Given the description of an element on the screen output the (x, y) to click on. 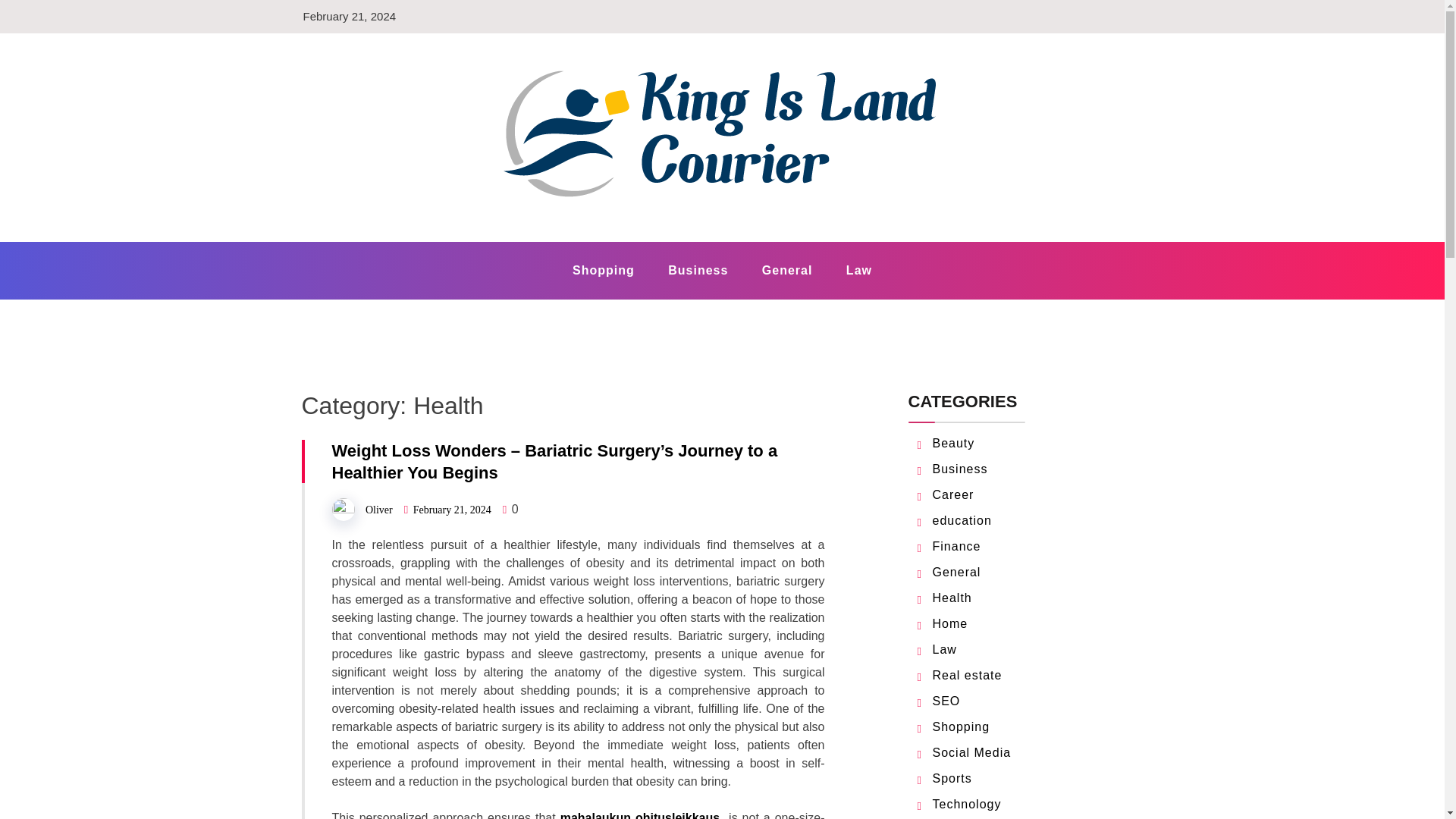
General (787, 270)
Oliver (379, 509)
Career (953, 494)
February 21, 2024 (452, 509)
King Is Land Courier (468, 240)
mahalaukun ohitusleikkaus (639, 815)
Shopping (603, 270)
Sports (952, 778)
SEO (946, 700)
Law (944, 649)
